Given the description of an element on the screen output the (x, y) to click on. 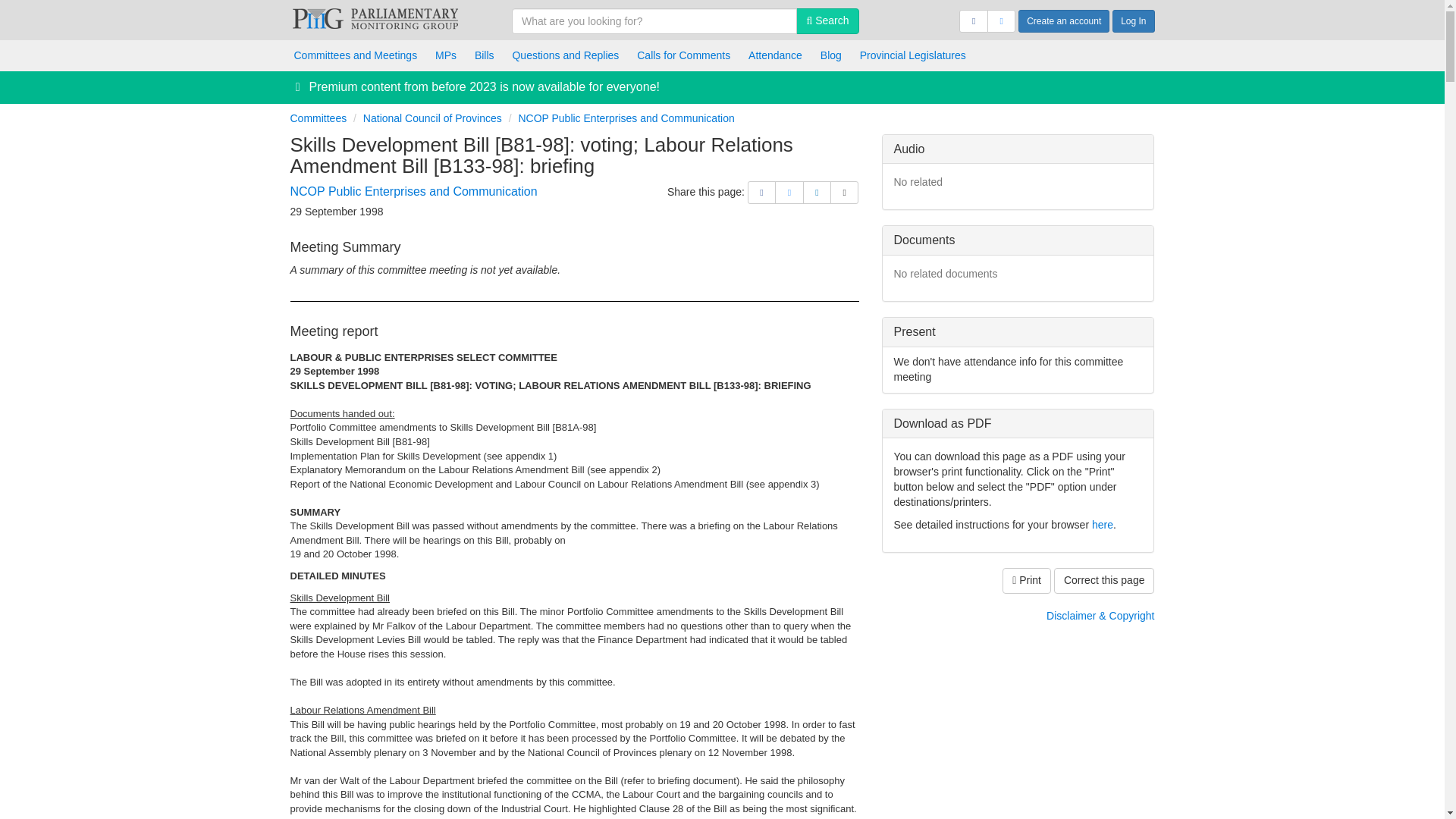
Calls for Comments (683, 55)
National Council of Provinces (432, 118)
Blog (830, 55)
Questions and Replies (564, 55)
Create an account (1063, 20)
Search (827, 21)
Bills (484, 55)
Committees and Meetings (355, 55)
Attendance (775, 55)
Log In (1133, 20)
Committees (317, 118)
MPs (446, 55)
NCOP Public Enterprises and Communication (625, 118)
NCOP Public Enterprises and Communication (413, 191)
